Given the description of an element on the screen output the (x, y) to click on. 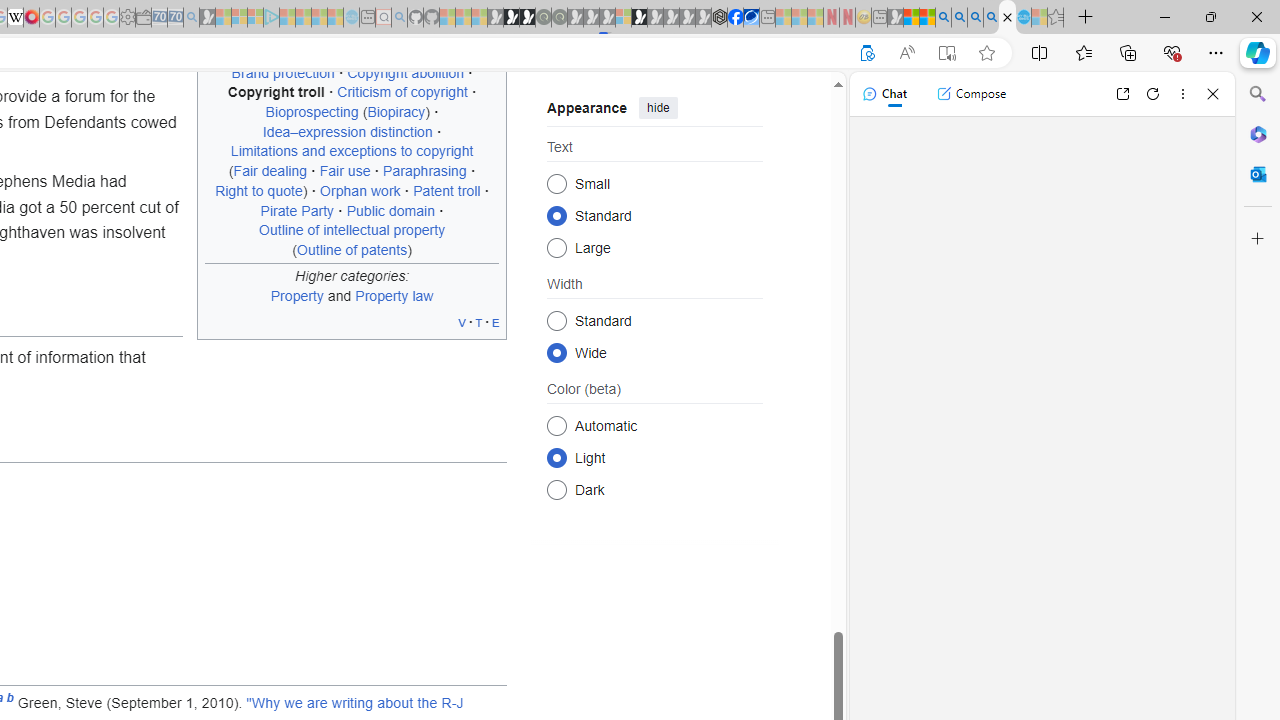
Automatic (556, 425)
New tab - Sleeping (879, 17)
2009 Bing officially replaced Live Search on June 3 - Search (959, 17)
Patent troll (447, 190)
